Given the description of an element on the screen output the (x, y) to click on. 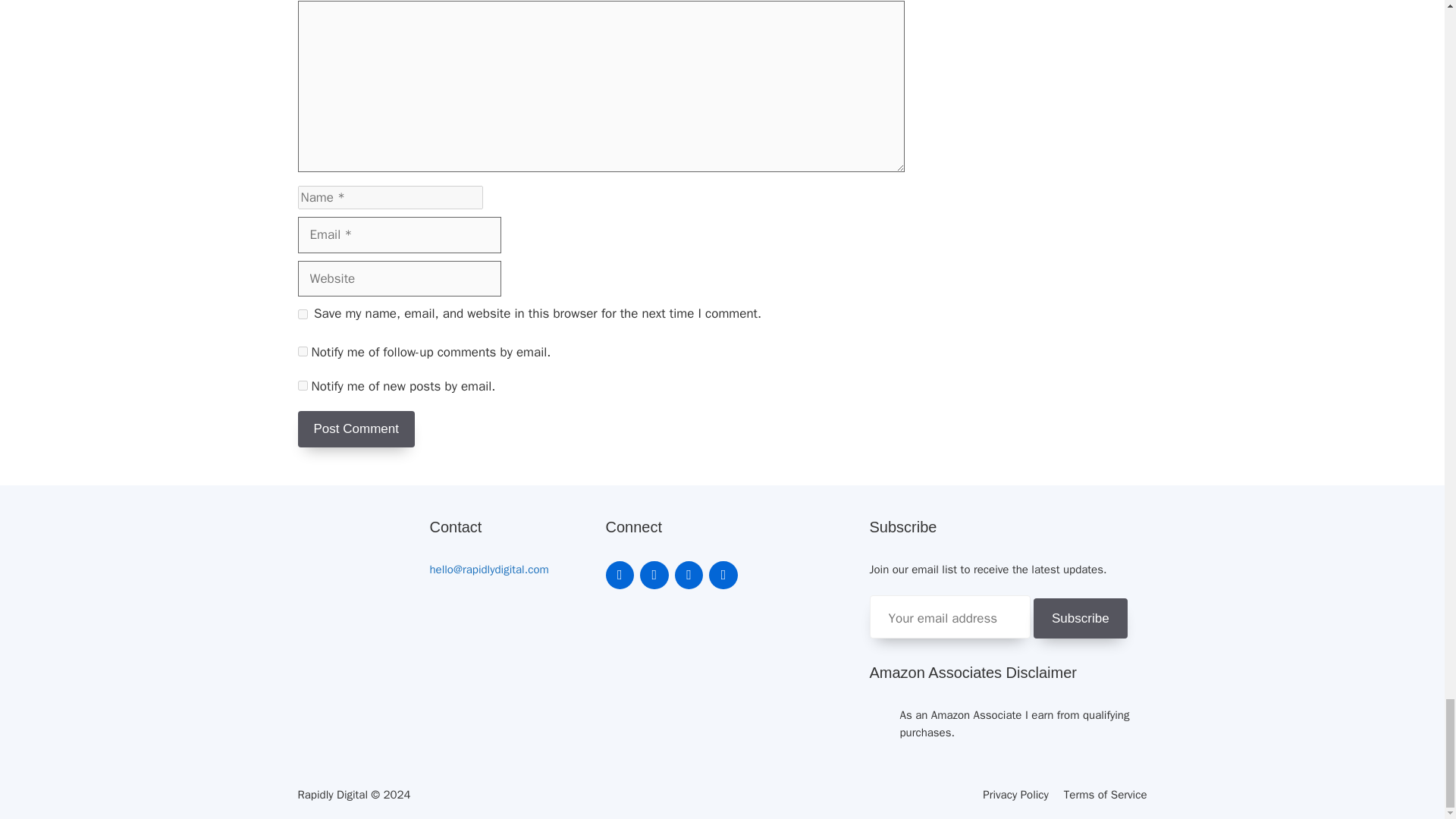
subscribe (302, 351)
Post Comment (355, 429)
yes (302, 314)
YouTube (723, 575)
subscribe (302, 385)
LinkedIn (619, 575)
Twitter (689, 575)
Post Comment (355, 429)
Facebook (654, 575)
Subscribe (1079, 618)
